Given the description of an element on the screen output the (x, y) to click on. 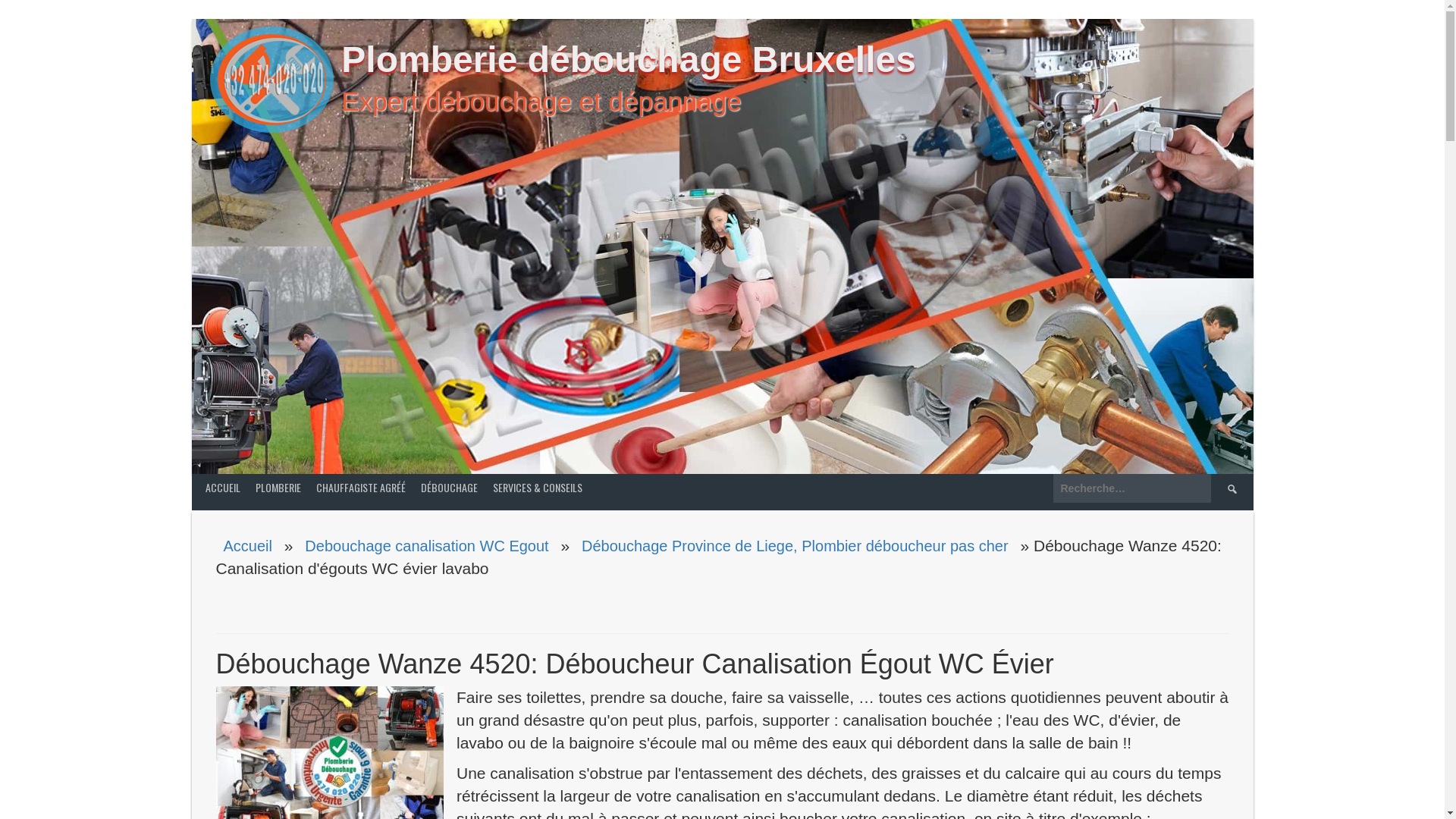
Rechercher Element type: hover (1231, 487)
Debouchage canalisation WC Egout Element type: text (426, 545)
SERVICES & CONSEILS Element type: text (537, 487)
PLOMBERIE Element type: text (277, 487)
ACCUEIL Element type: text (222, 487)
Accueil Element type: text (247, 545)
Skip to content Element type: text (0, 0)
